Given the description of an element on the screen output the (x, y) to click on. 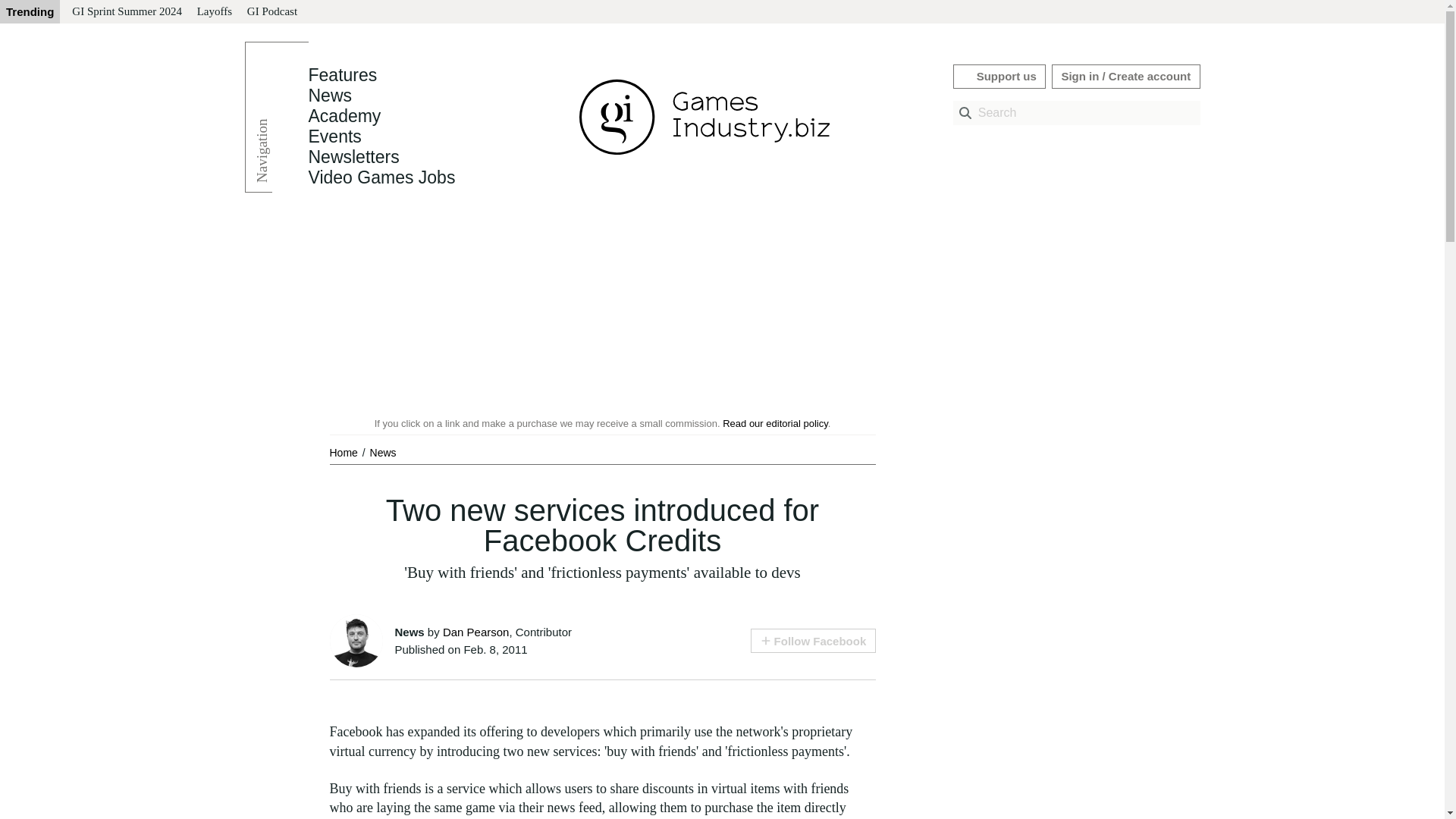
Events (334, 136)
Features (342, 75)
News (329, 95)
GI Podcast (271, 11)
GI Sprint Summer 2024 (126, 11)
Features (342, 75)
Video Games Jobs (380, 177)
Follow Facebook (813, 640)
Academy (343, 116)
Read our editorial policy (775, 423)
Academy (343, 116)
Newsletters (352, 157)
News (382, 452)
Dan Pearson (475, 631)
Follow Facebook (813, 640)
